Given the description of an element on the screen output the (x, y) to click on. 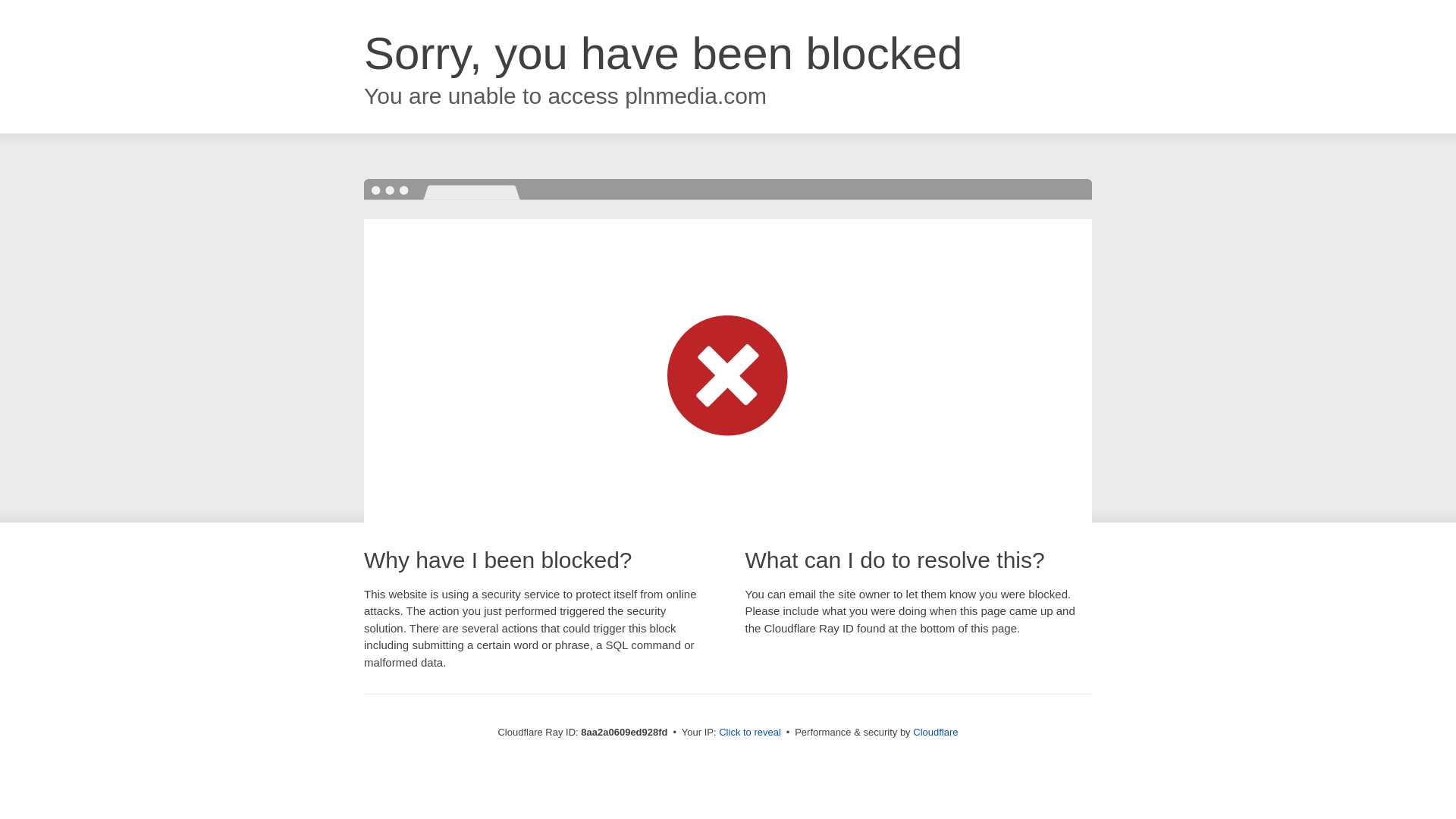
Cloudflare (935, 731)
Click to reveal (749, 732)
